Given the description of an element on the screen output the (x, y) to click on. 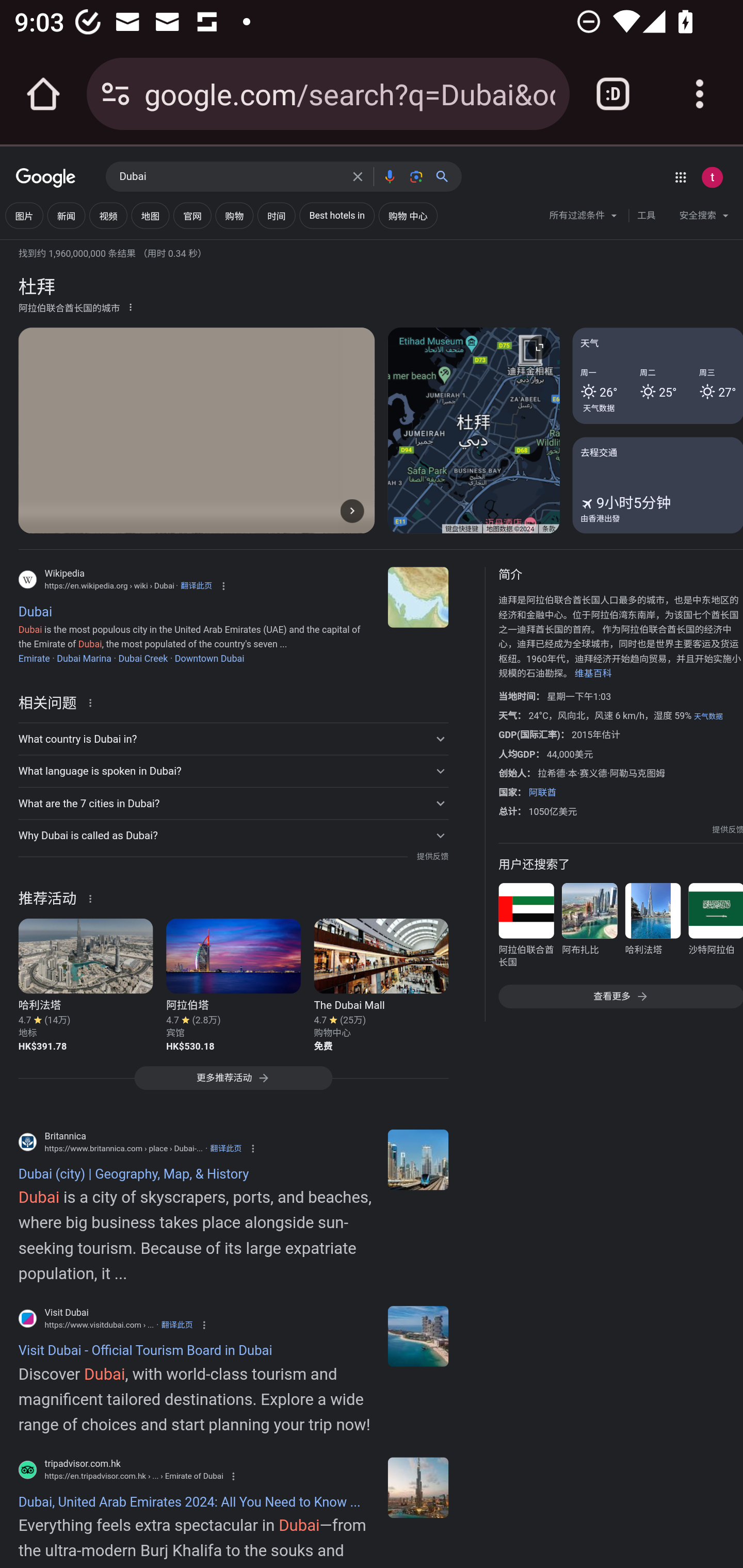
Open the home page (43, 93)
Connection is secure (115, 93)
Switch or close tabs (612, 93)
Customize and control Google Chrome (699, 93)
清除 (357, 176)
按语音搜索 (389, 176)
按图搜索 (415, 176)
搜索 (446, 176)
Google 应用 (680, 176)
Google 账号： test appium (testappium002@gmail.com) (712, 176)
Google (45, 178)
Dubai (229, 177)
图片 (24, 215)
新闻 (65, 215)
视频 (107, 215)
地图 (149, 215)
添加“官网” 官网 (191, 215)
购物 (234, 215)
添加“时间” 时间 (276, 215)
添加“Best hotels in” Best hotels in (337, 215)
添加“购物 中心” 购物 中心 (407, 215)
所有过滤条件 (583, 217)
工具 (646, 215)
安全搜索 (703, 217)
更多选项 (130, 306)
天气 周一 高温 26 度 周二 高温 25 度 周三 高温 27 度 (657, 375)
展开地图 (539, 346)
天气数据 (599, 407)
去程交通 9小时5分钟 乘坐飞机 由香港出發 (657, 484)
下一张图片 (352, 510)
Dubai (417, 597)
翻译此页 (195, 585)
Emirate (33, 658)
Dubai Marina (84, 658)
Dubai Creek (142, 658)
Downtown Dubai (208, 658)
维基百科 (593, 672)
关于这条结果的详细信息 (93, 701)
天气数据 (708, 716)
What country is Dubai in? (232, 738)
What language is spoken in Dubai? (232, 770)
阿联酋 (541, 792)
What are the 7 cities in Dubai? (232, 803)
Why Dubai is called as Dubai? (232, 835)
提供反馈 (727, 829)
提供反馈 (432, 856)
阿拉伯联合酋长国 (526, 927)
阿布扎比 (588, 927)
哈利法塔 (652, 927)
沙特阿拉伯 (715, 927)
关于这条结果的详细信息 (93, 897)
查看更多 查看更多 查看更多 (620, 996)
更多推荐活动 (232, 1082)
Dubai-United-Arab-Emirates (417, 1159)
翻译此页 (225, 1148)
en (417, 1336)
翻译此页 (176, 1324)
Tourism-g295424-Dubai_Emirate_of_Dubai-Vacations (417, 1486)
